Given the description of an element on the screen output the (x, y) to click on. 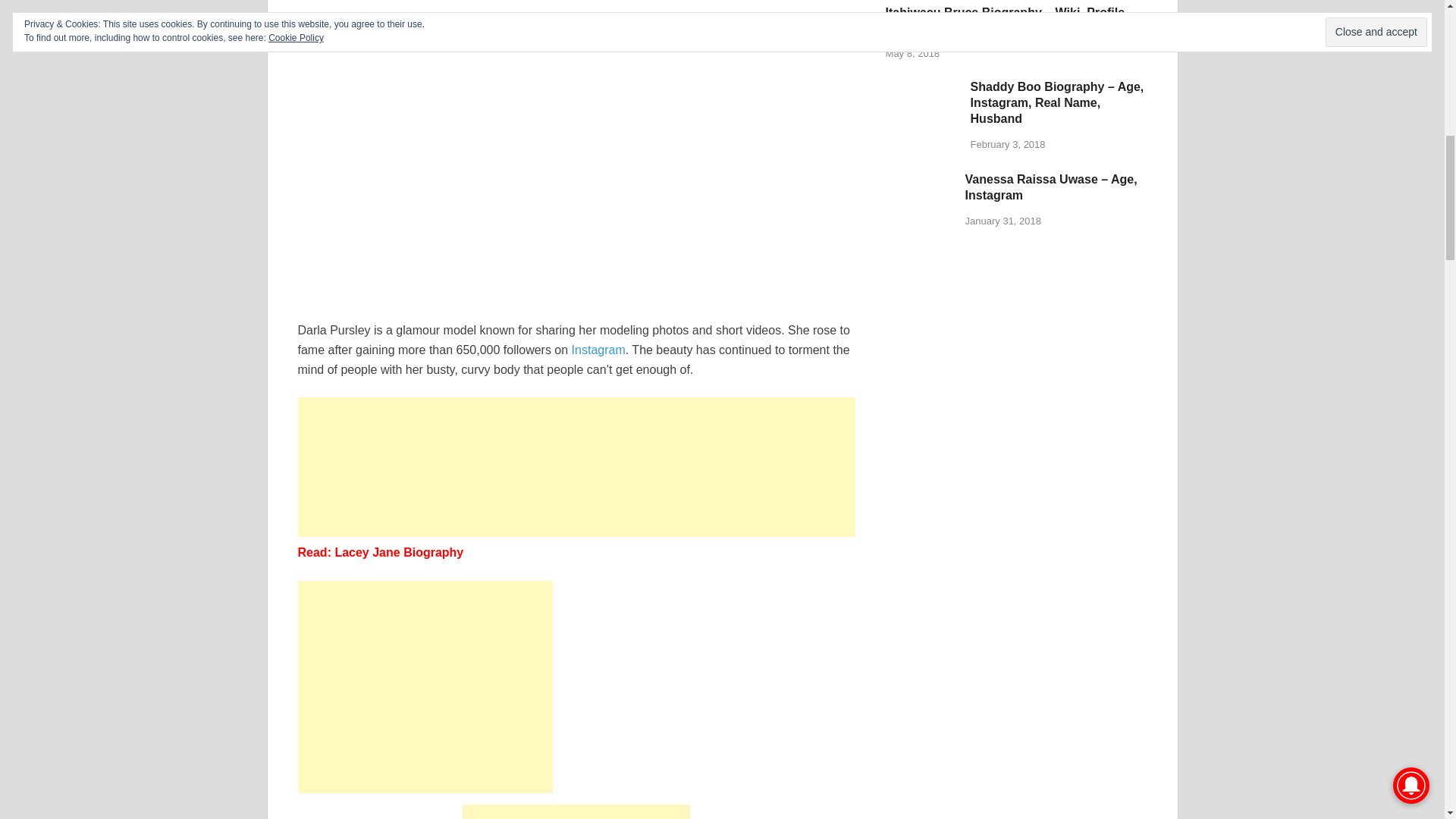
Advertisement (575, 467)
Advertisement (576, 811)
Read: Lacey Jane Biography (380, 552)
Instagram (599, 349)
Advertisement (424, 686)
